Given the description of an element on the screen output the (x, y) to click on. 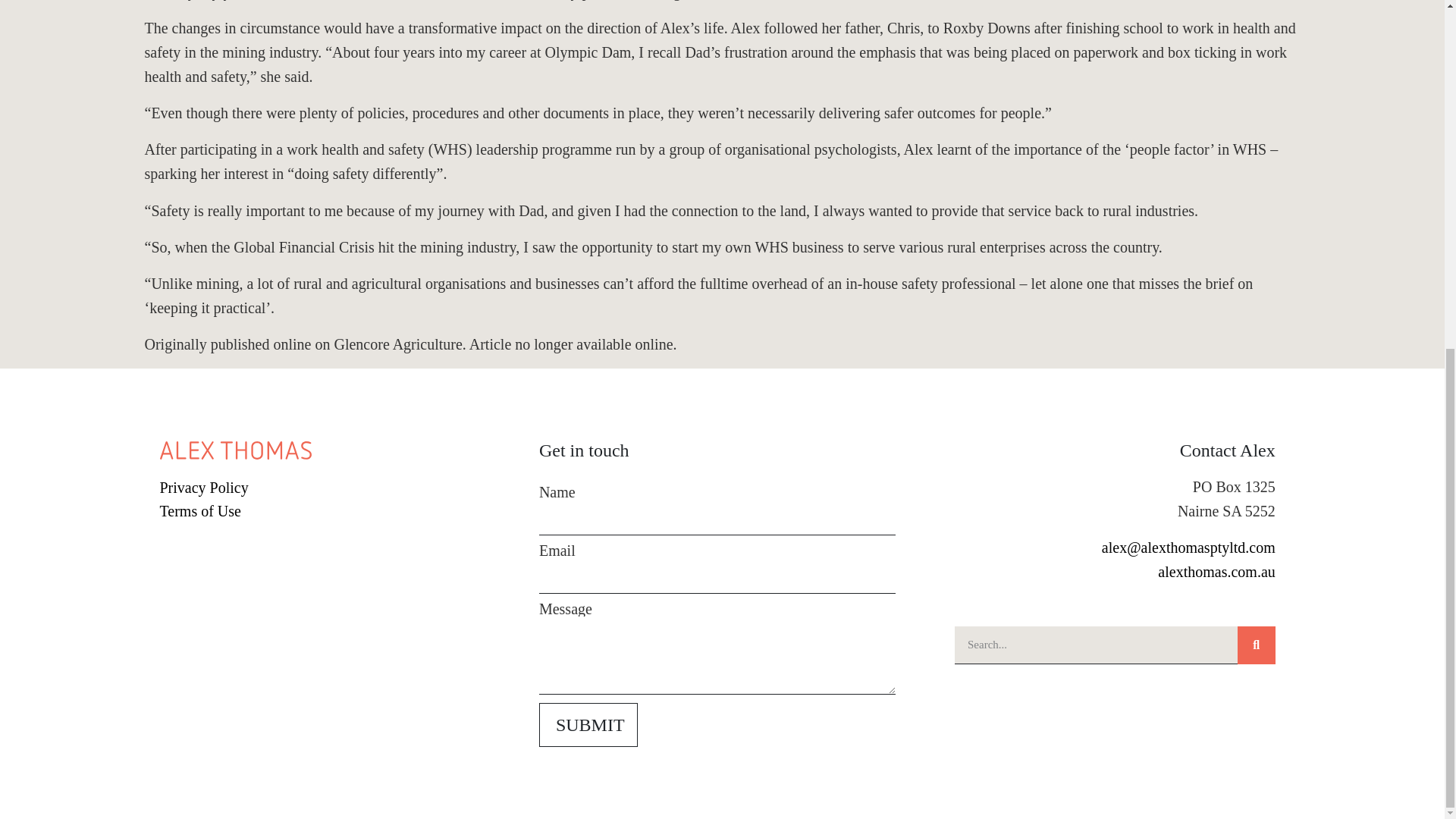
SUBMIT (587, 724)
Terms of Use (336, 511)
Privacy Policy (336, 487)
alexthomas.com.au (1216, 571)
